Given the description of an element on the screen output the (x, y) to click on. 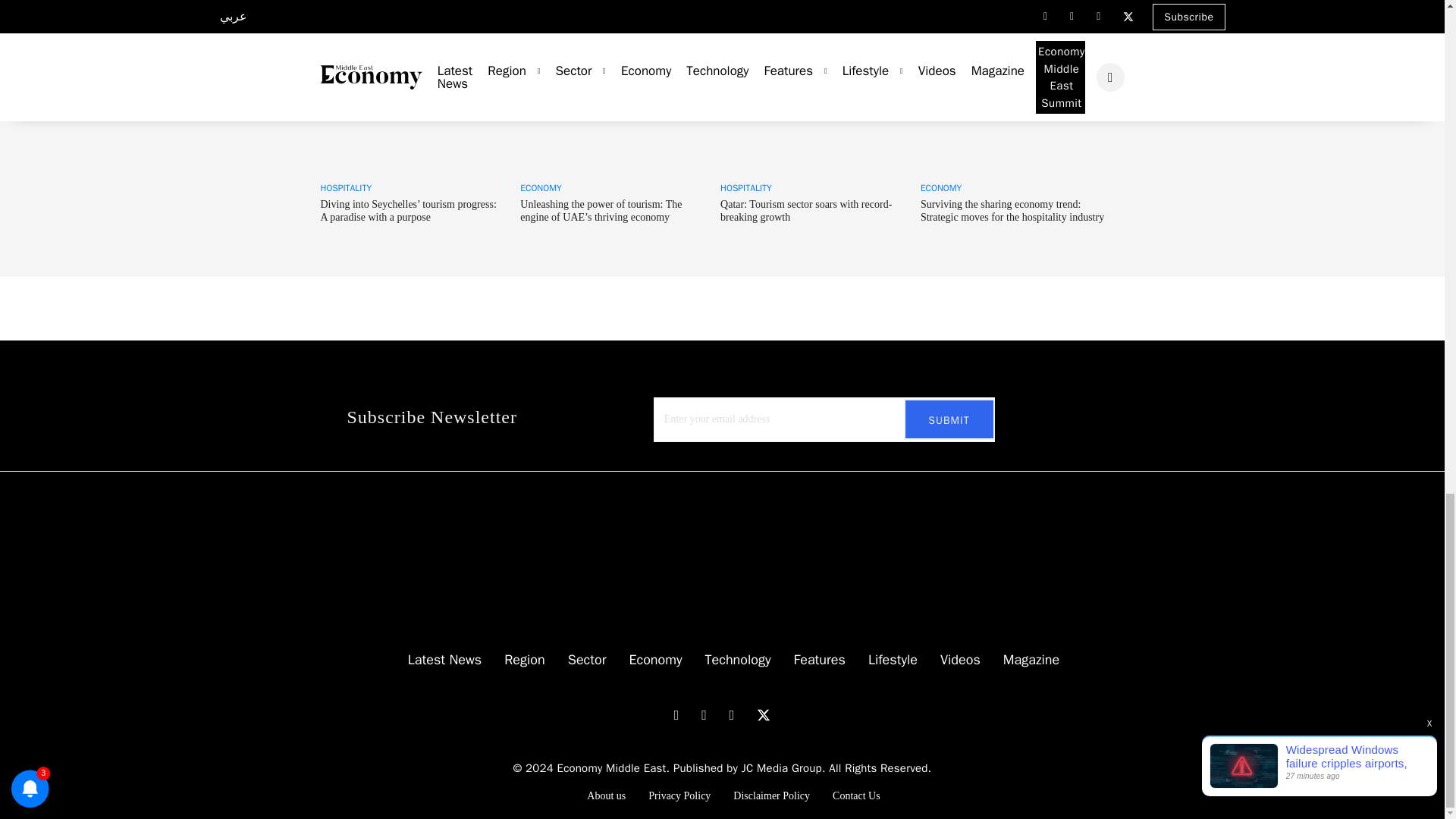
Submit (949, 418)
Twitter (763, 714)
